Given the description of an element on the screen output the (x, y) to click on. 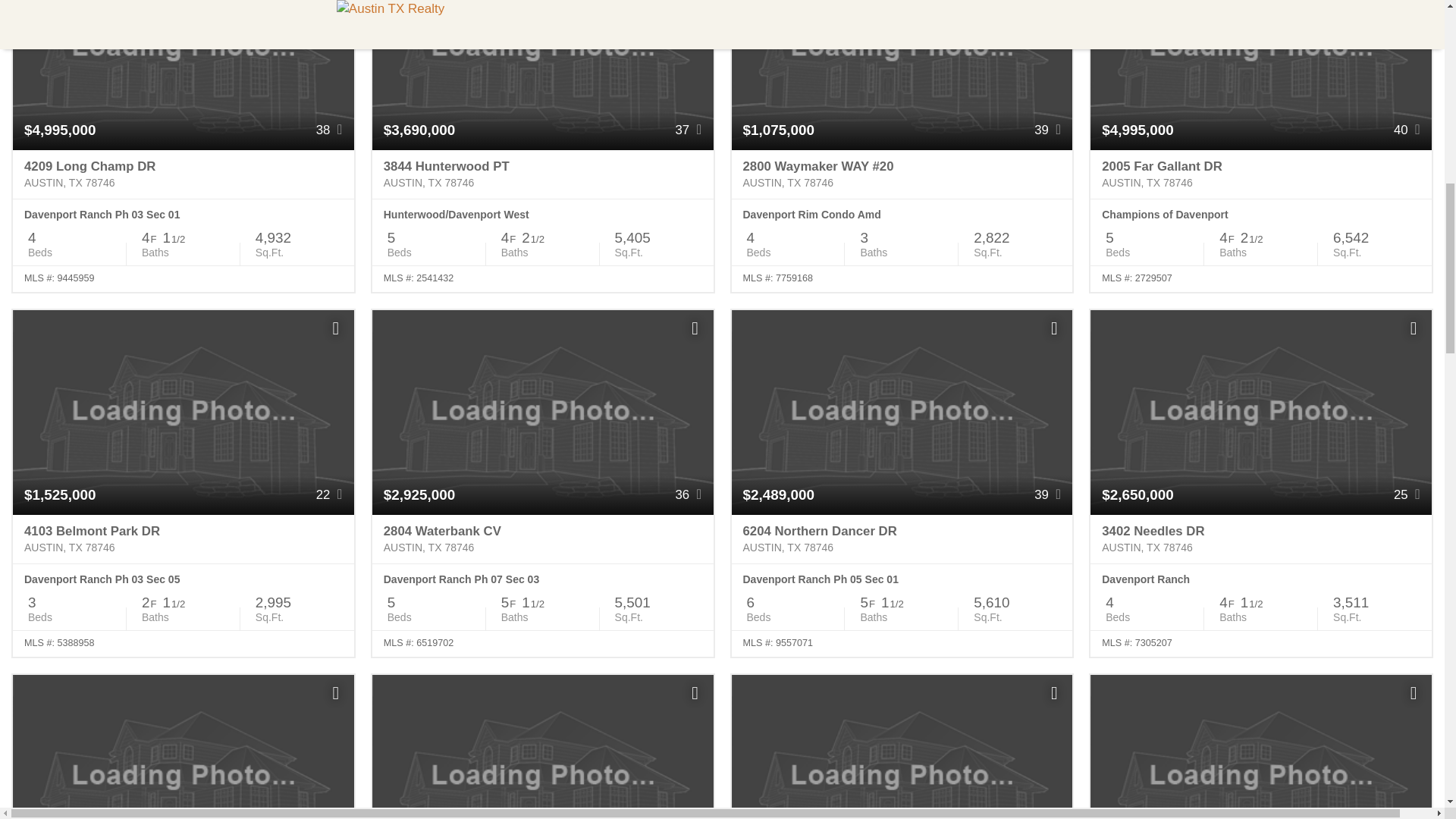
4209 Long Champ DR Austin,  TX 78746 (183, 174)
3844 Hunterwood PT Austin,  TX 78746 (542, 174)
2005 Far Gallant DR Austin,  TX 78746 (1260, 174)
